Given the description of an element on the screen output the (x, y) to click on. 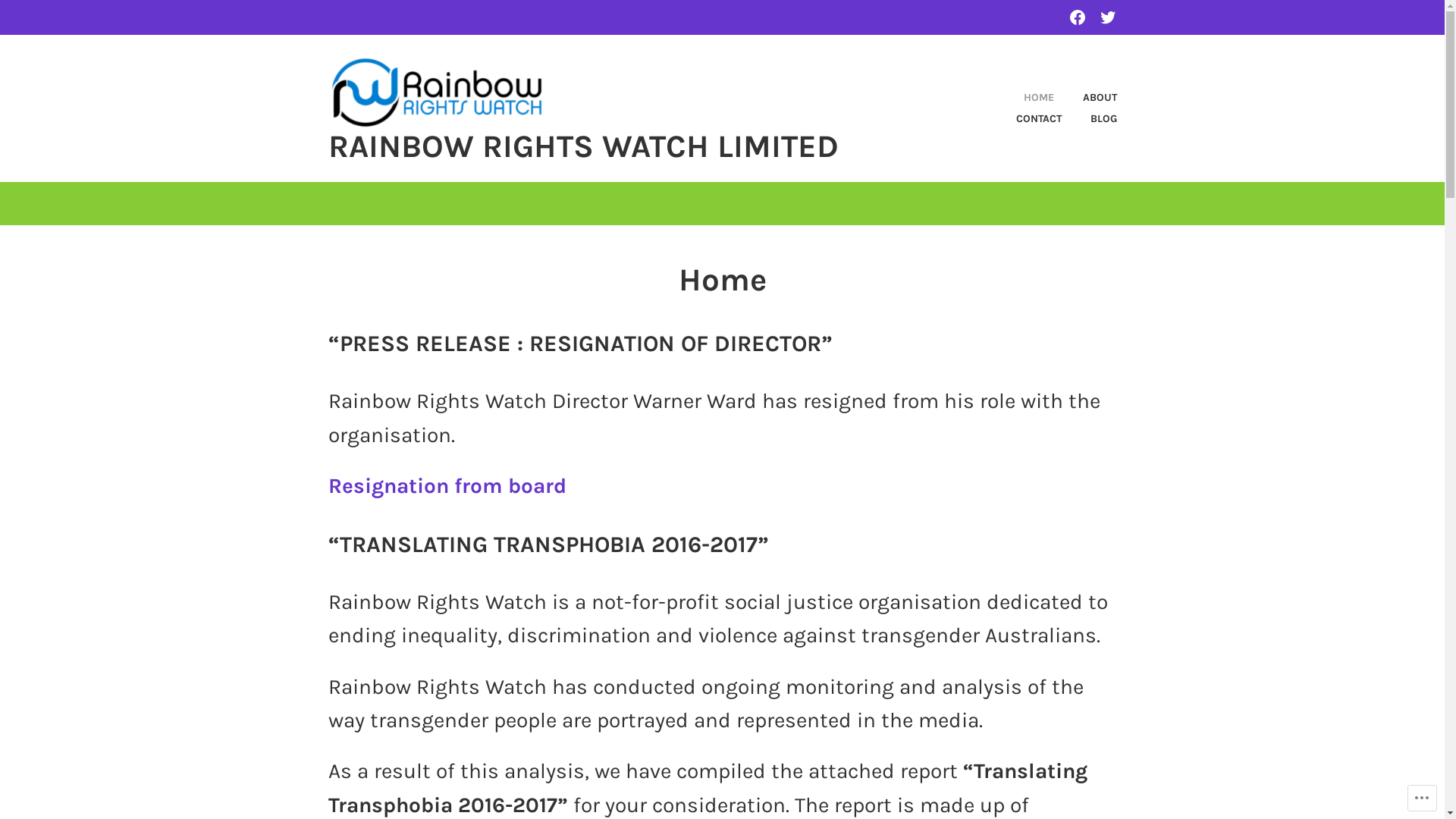
Search Element type: text (45, 17)
ABOUT Element type: text (1087, 97)
HOME Element type: text (1025, 97)
CONTACT Element type: text (1025, 118)
Resignation from board Element type: text (446, 485)
BLOG Element type: text (1090, 118)
RAINBOW RIGHTS WATCH LIMITED Element type: text (582, 146)
